Given the description of an element on the screen output the (x, y) to click on. 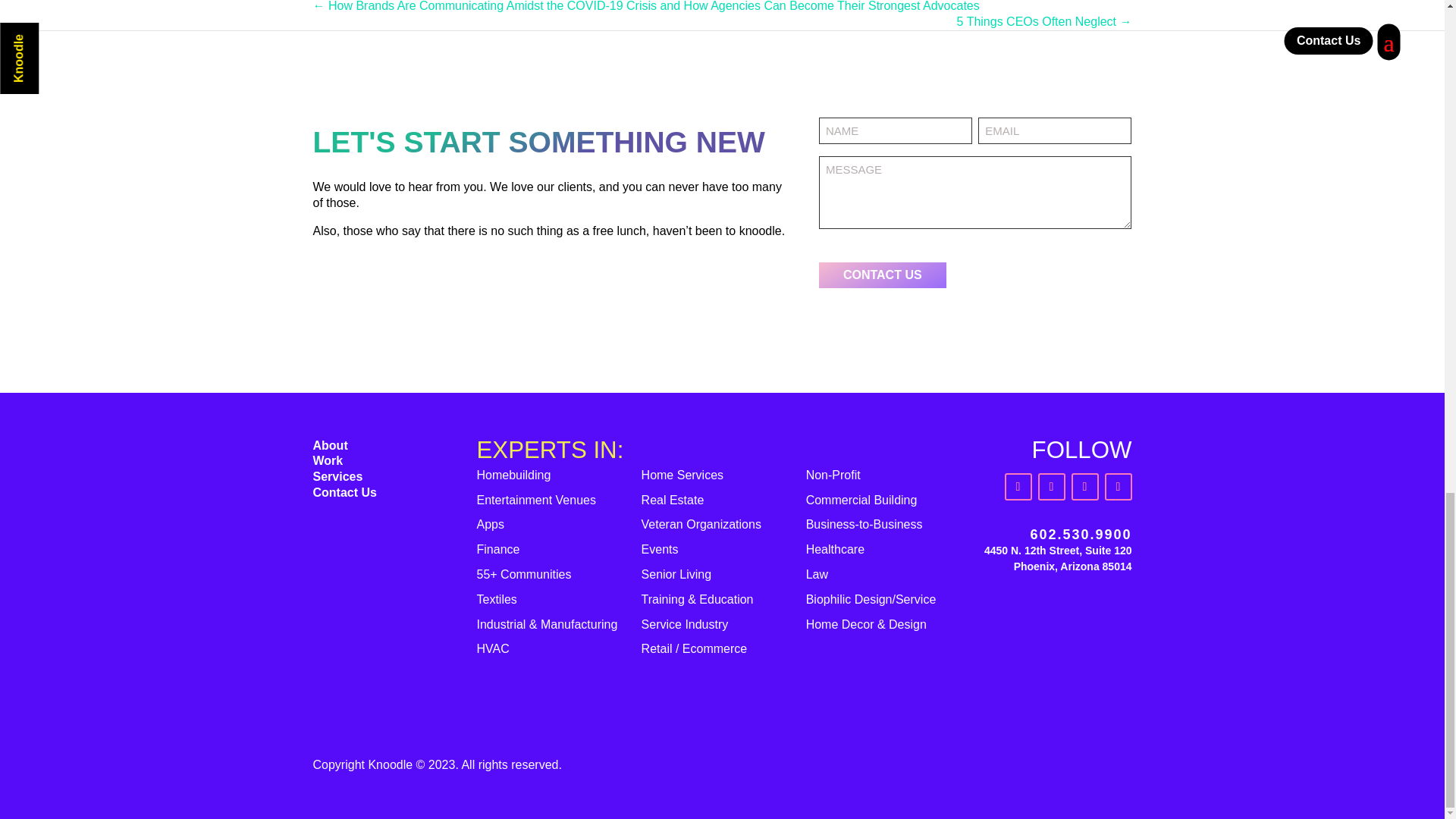
Non-Profit (833, 474)
Contact Us (344, 492)
Healthcare (835, 549)
Follow on Youtube (1117, 486)
602.530.9900 (1080, 534)
Contact Us (882, 275)
Home Services (682, 474)
Real Estate (673, 499)
Work (327, 460)
Service Industry (685, 624)
